Given the description of an element on the screen output the (x, y) to click on. 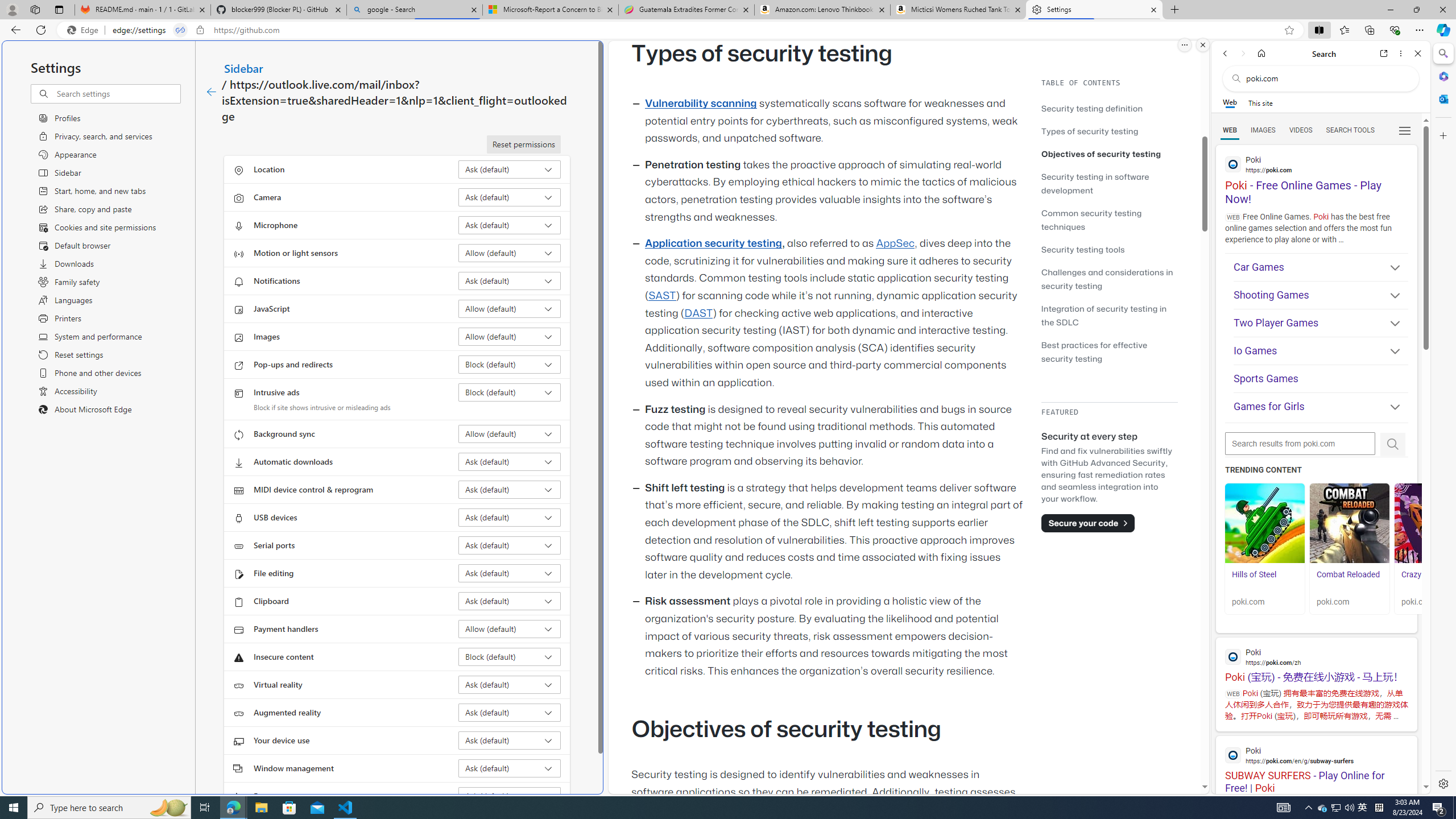
Security testing definition (1091, 108)
Integration of security testing in the SDLC (1104, 314)
Crazy Cars (1419, 574)
Car Games (1320, 267)
Show More Two Player Games (1390, 323)
Show More Shooting Games (1390, 296)
Poki (1315, 754)
Show More Car Games (1390, 268)
